Given the description of an element on the screen output the (x, y) to click on. 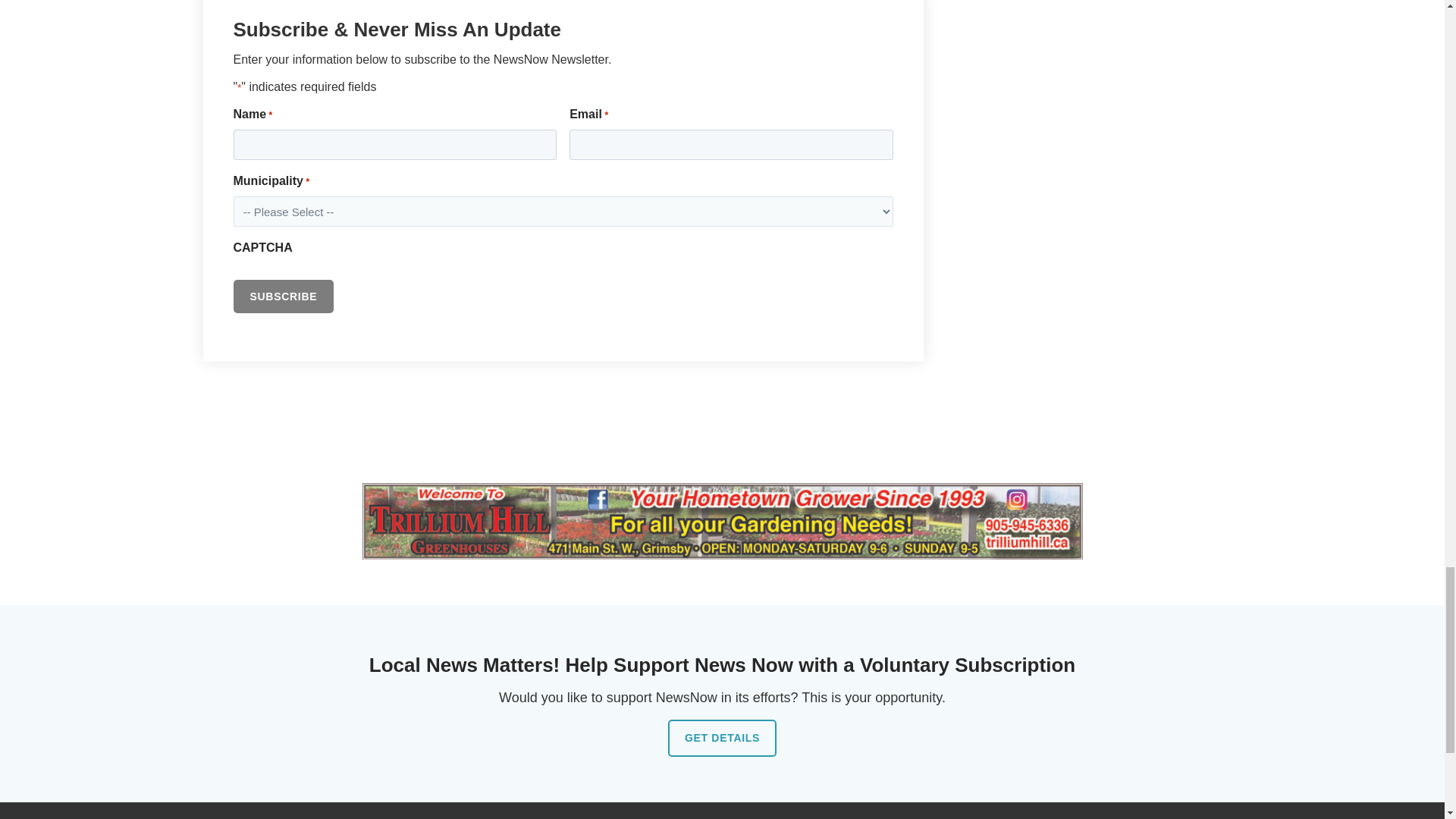
Subscribe (283, 296)
